Given the description of an element on the screen output the (x, y) to click on. 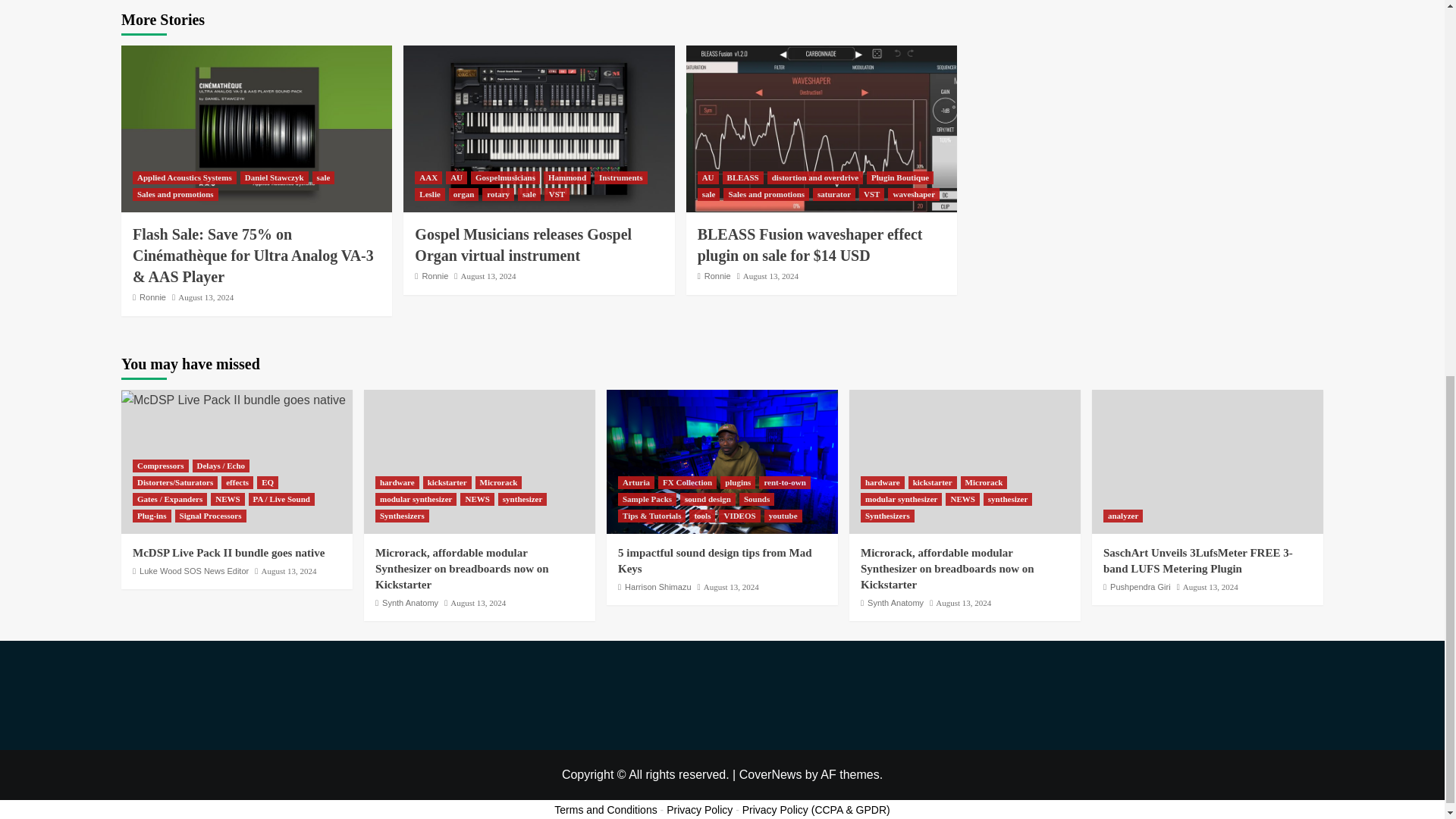
Applied Acoustics Systems (183, 177)
AAX (428, 177)
Instruments (620, 177)
Sales and promotions (175, 194)
Ronnie (152, 297)
rotary (497, 194)
5 impactful sound design tips from Mad Keys (722, 461)
AU (456, 177)
Gospelmusicians (505, 177)
sale (529, 194)
